Given the description of an element on the screen output the (x, y) to click on. 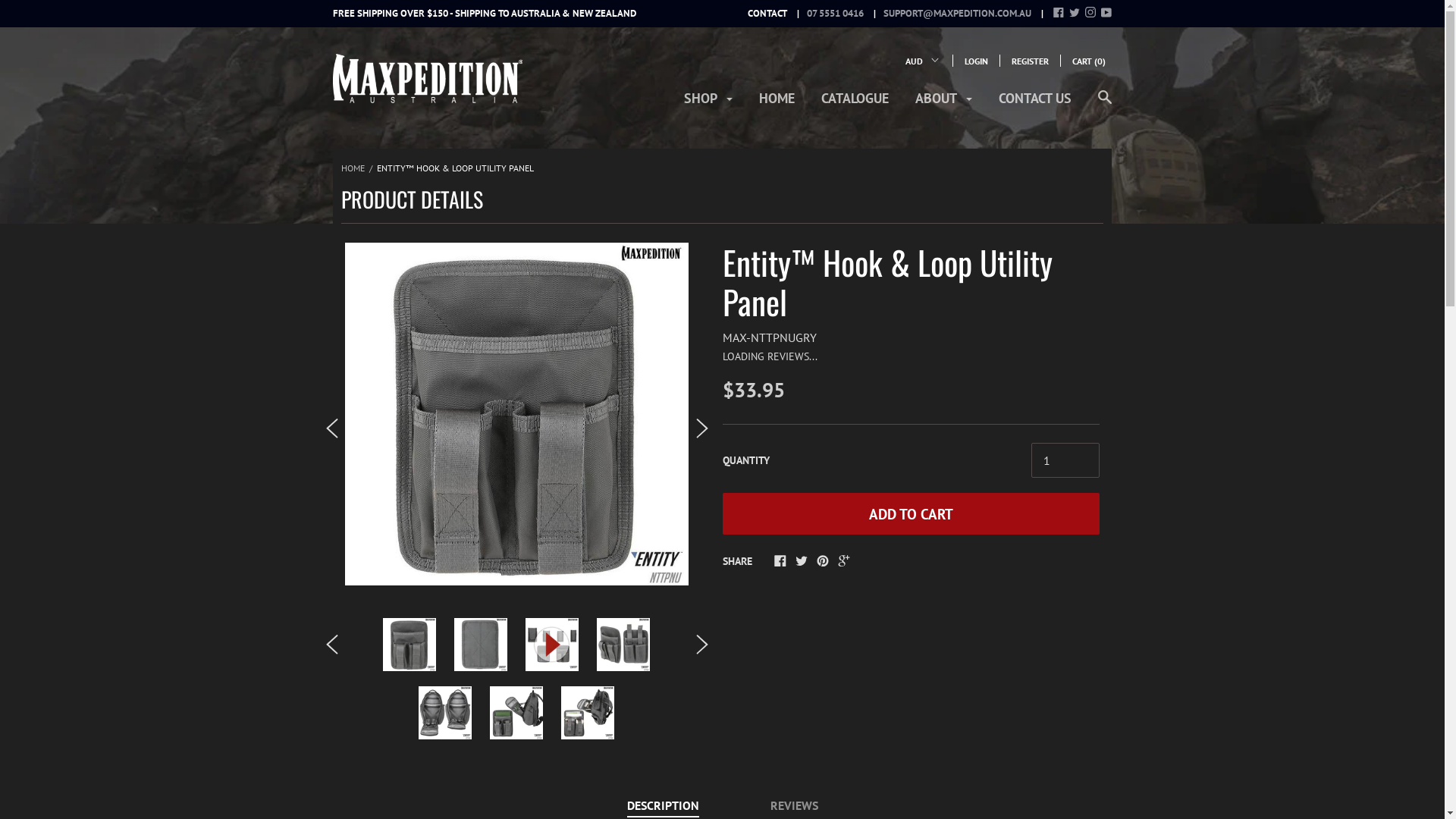
Twitter Element type: text (1074, 13)
CATALOGUE Element type: text (854, 103)
Twitter Element type: text (800, 561)
ABOUT Element type: text (943, 103)
LOGIN Element type: text (976, 60)
Facebook Element type: text (1058, 13)
Instagram Element type: text (1090, 13)
HOME Element type: text (776, 103)
Facebook Element type: text (779, 561)
SHOP Element type: text (708, 103)
HOME Element type: text (352, 167)
REGISTER Element type: text (1029, 60)
SUPPORT@MAXPEDITION.COM.AU Element type: text (948, 13)
CONTACT US Element type: text (1034, 103)
CART (0) Element type: text (1088, 60)
Google+ Element type: text (843, 561)
YouTube Element type: text (1106, 13)
Search Element type: hover (1104, 104)
Pinterest Element type: text (821, 561)
ADD TO CART Element type: text (910, 513)
